Given the description of an element on the screen output the (x, y) to click on. 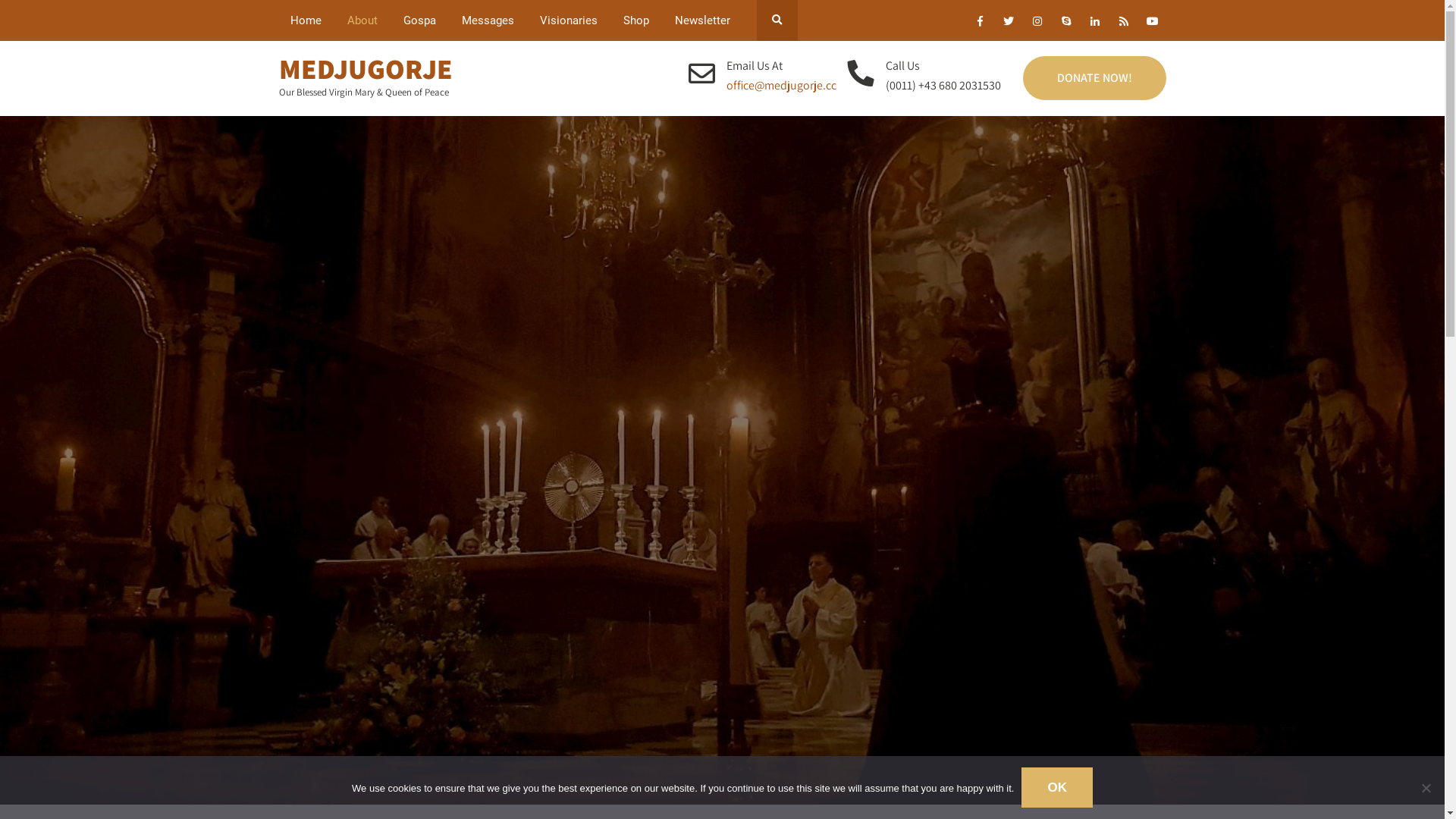
fab fa-facebook-f Element type: hover (979, 23)
OK Element type: text (1056, 787)
Messages Element type: text (487, 20)
MEDJUGORJE Element type: text (365, 68)
Gospa Element type: text (418, 20)
Shop Element type: text (635, 20)
fab fa-instagram Element type: hover (1036, 23)
No Element type: hover (1425, 786)
fab fa-twitter Element type: hover (1007, 23)
fab fa-youtube Element type: hover (1152, 23)
fab fa-skype Element type: hover (1065, 23)
Visionaries Element type: text (567, 20)
office@medjugorje.cc Element type: text (781, 85)
Newsletter Element type: text (701, 20)
DONATE NOW! Element type: text (1093, 78)
fab fa-linkedin-in Element type: hover (1094, 23)
fas fa-rss Element type: hover (1123, 23)
Home Element type: text (305, 20)
About Element type: text (361, 20)
